Given the description of an element on the screen output the (x, y) to click on. 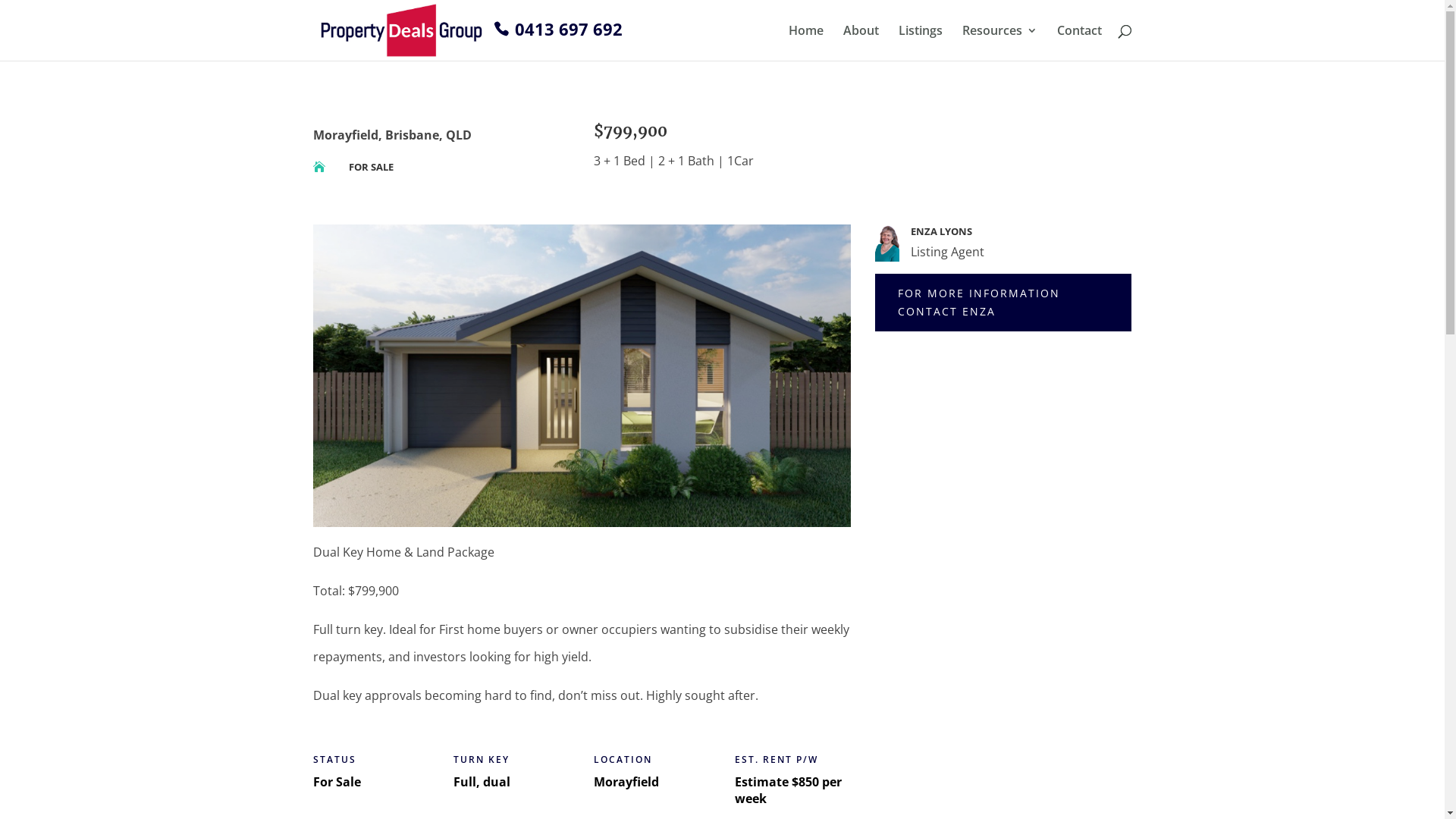
FOR MORE INFORMATION CONTACT ENZA Element type: text (1003, 302)
Resources Element type: text (998, 42)
About Element type: text (860, 42)
0413 697 692 Element type: text (555, 28)
Listings Element type: text (919, 42)
AFB3CECD-B4B2-490A-8450-3092101C9B0B Element type: hover (581, 375)
Home Element type: text (805, 42)
Contact Element type: text (1079, 42)
